Given the description of an element on the screen output the (x, y) to click on. 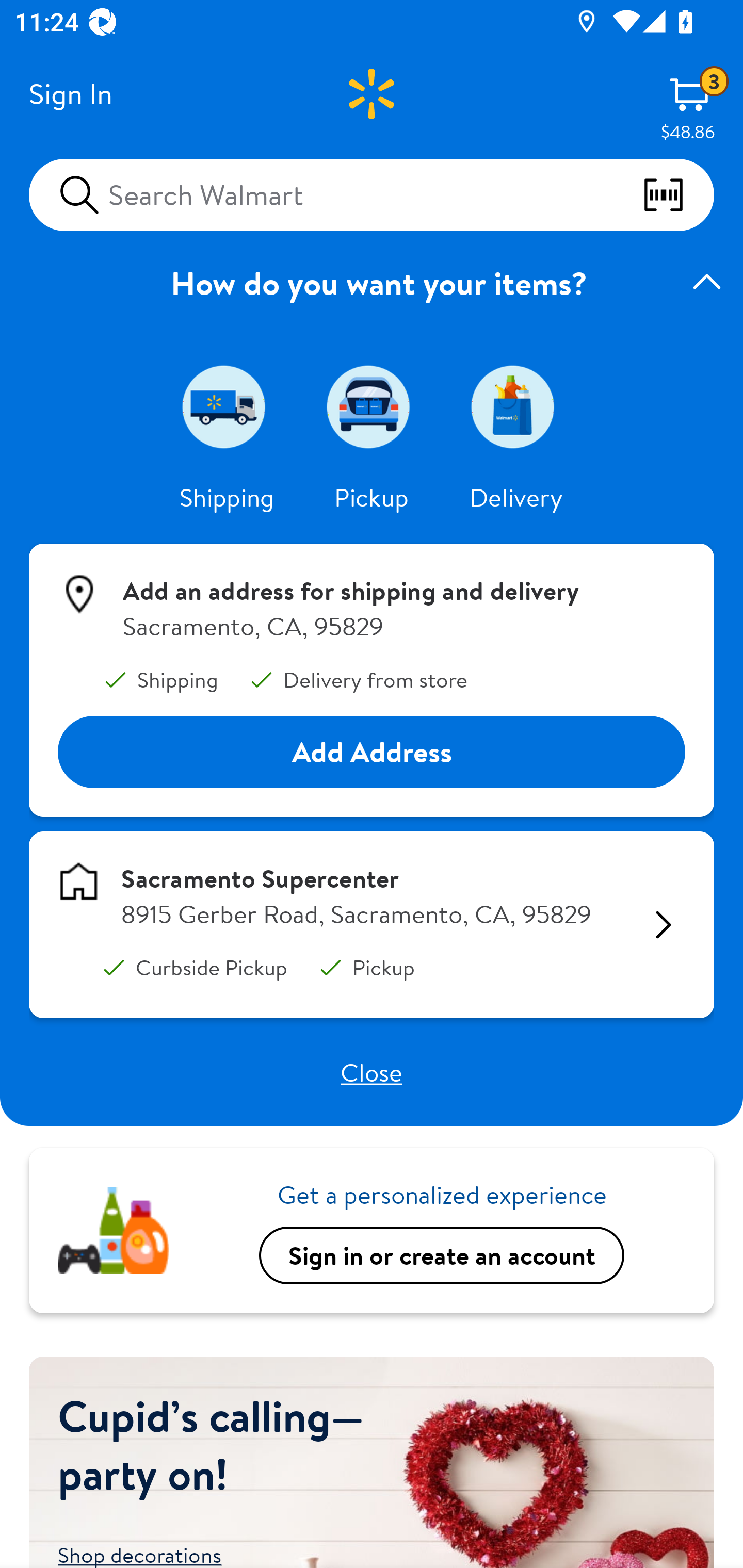
Sign In (70, 93)
Search Walmart scan barcodes qr codes and more (371, 194)
scan barcodes qr codes and more (677, 195)
How do you want your items? expanded (371, 282)
Shipping 1 of 3 (226, 406)
Pickup 2 of 3 (371, 406)
Delivery 3 of 3 (515, 406)
Add Address (371, 752)
Close (371, 1072)
Sign in or create an account (441, 1255)
